Given the description of an element on the screen output the (x, y) to click on. 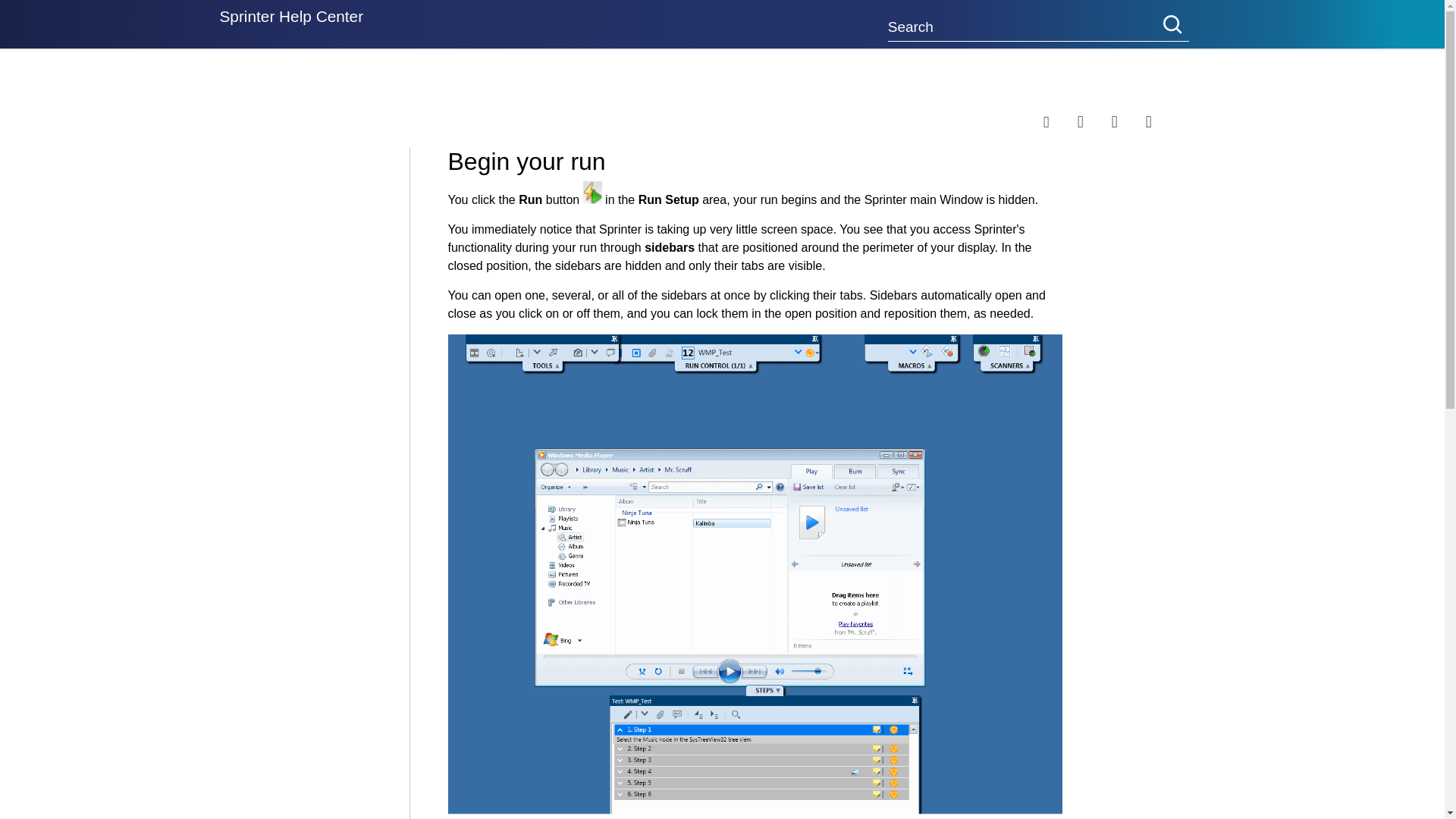
Version: 2023-24.2 (272, 83)
Print (1162, 121)
Sprinter Help Center (291, 24)
Expand all (1094, 121)
Remove Highlights (1128, 121)
